Given the description of an element on the screen output the (x, y) to click on. 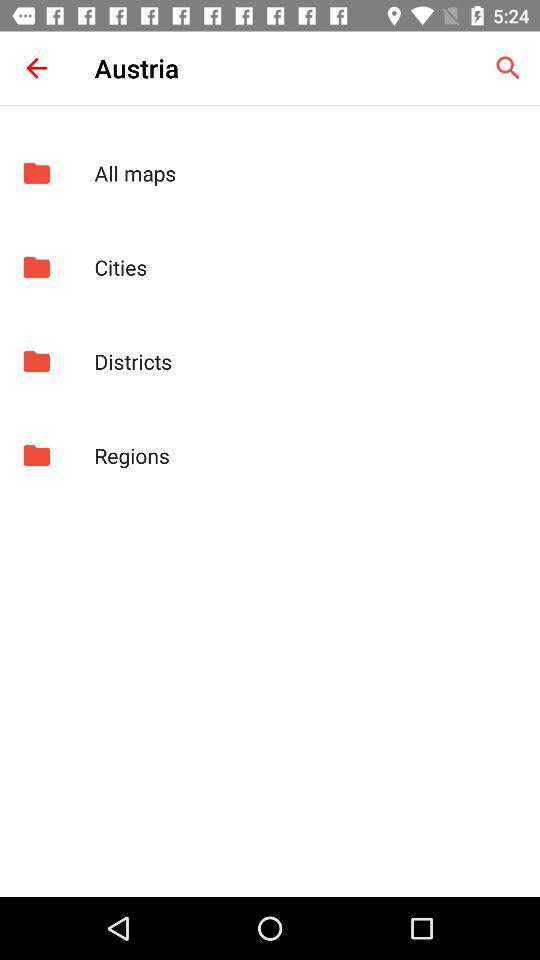
open the icon above regions icon (306, 361)
